Given the description of an element on the screen output the (x, y) to click on. 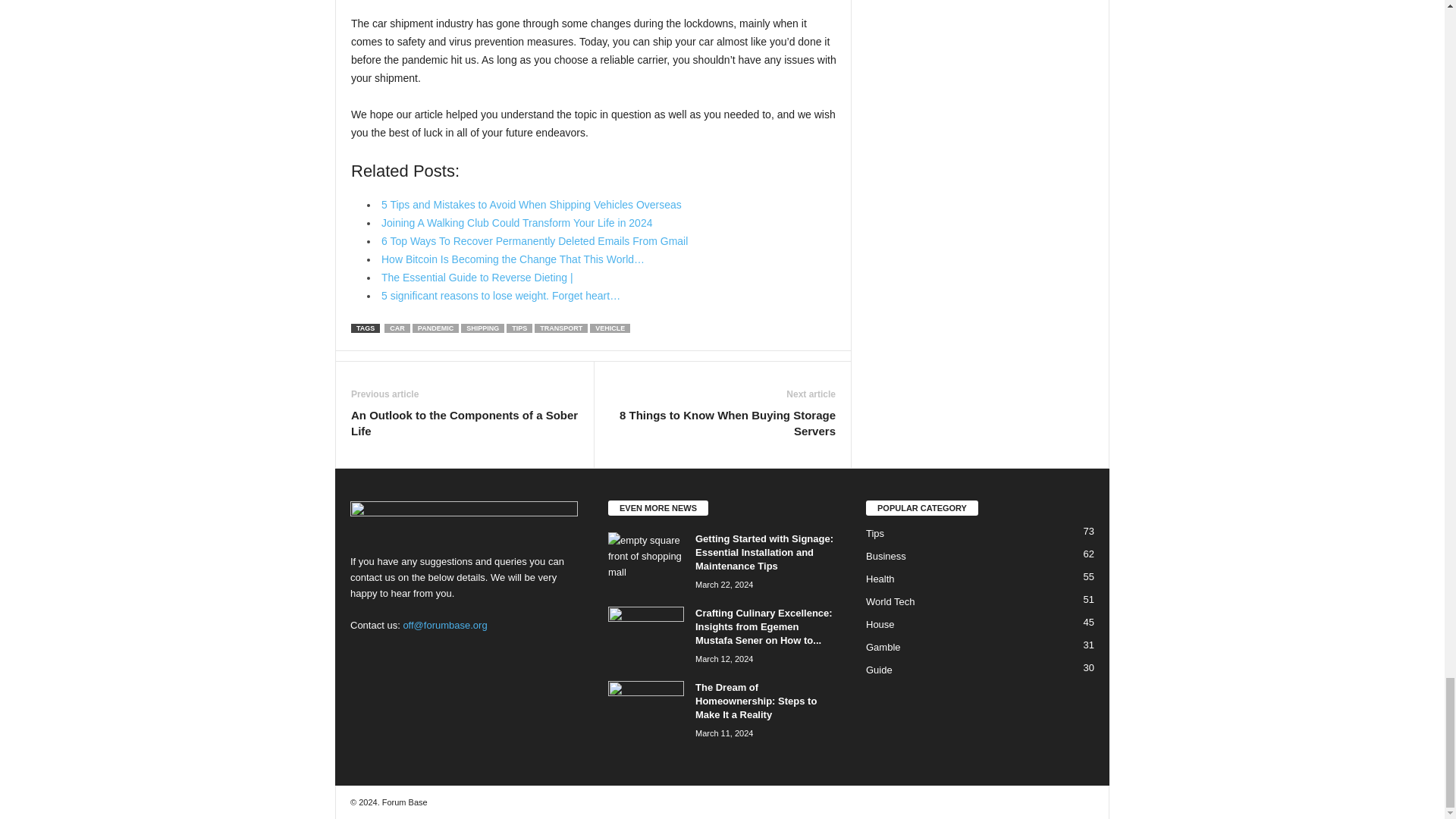
The Dream of Homeownership: Steps to Make It a Reality (646, 708)
